Given the description of an element on the screen output the (x, y) to click on. 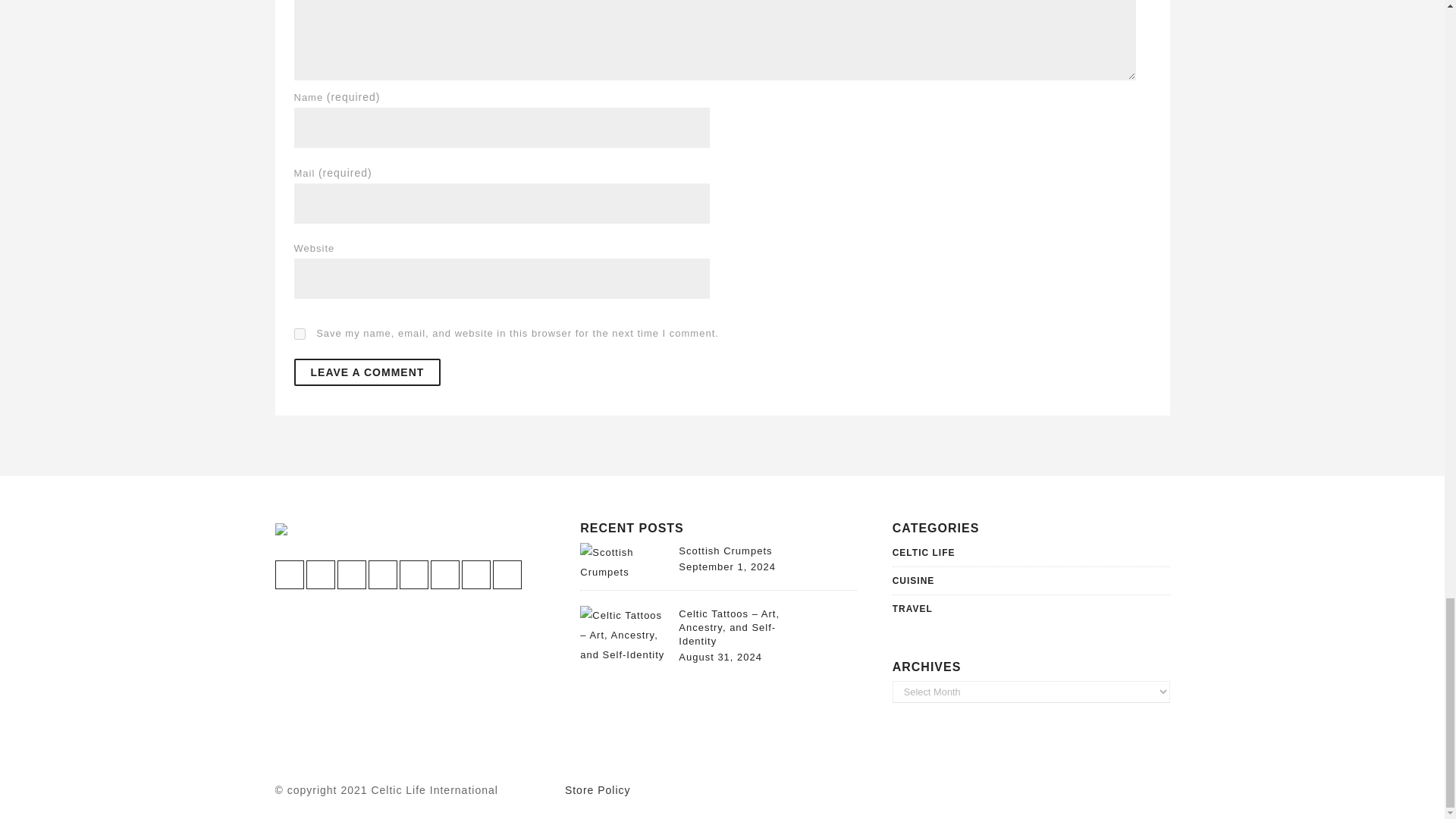
Leave a Comment (367, 371)
Pinterest (382, 574)
Instagram (350, 574)
Facebook (288, 574)
yes (299, 333)
Twitter (319, 574)
